Given the description of an element on the screen output the (x, y) to click on. 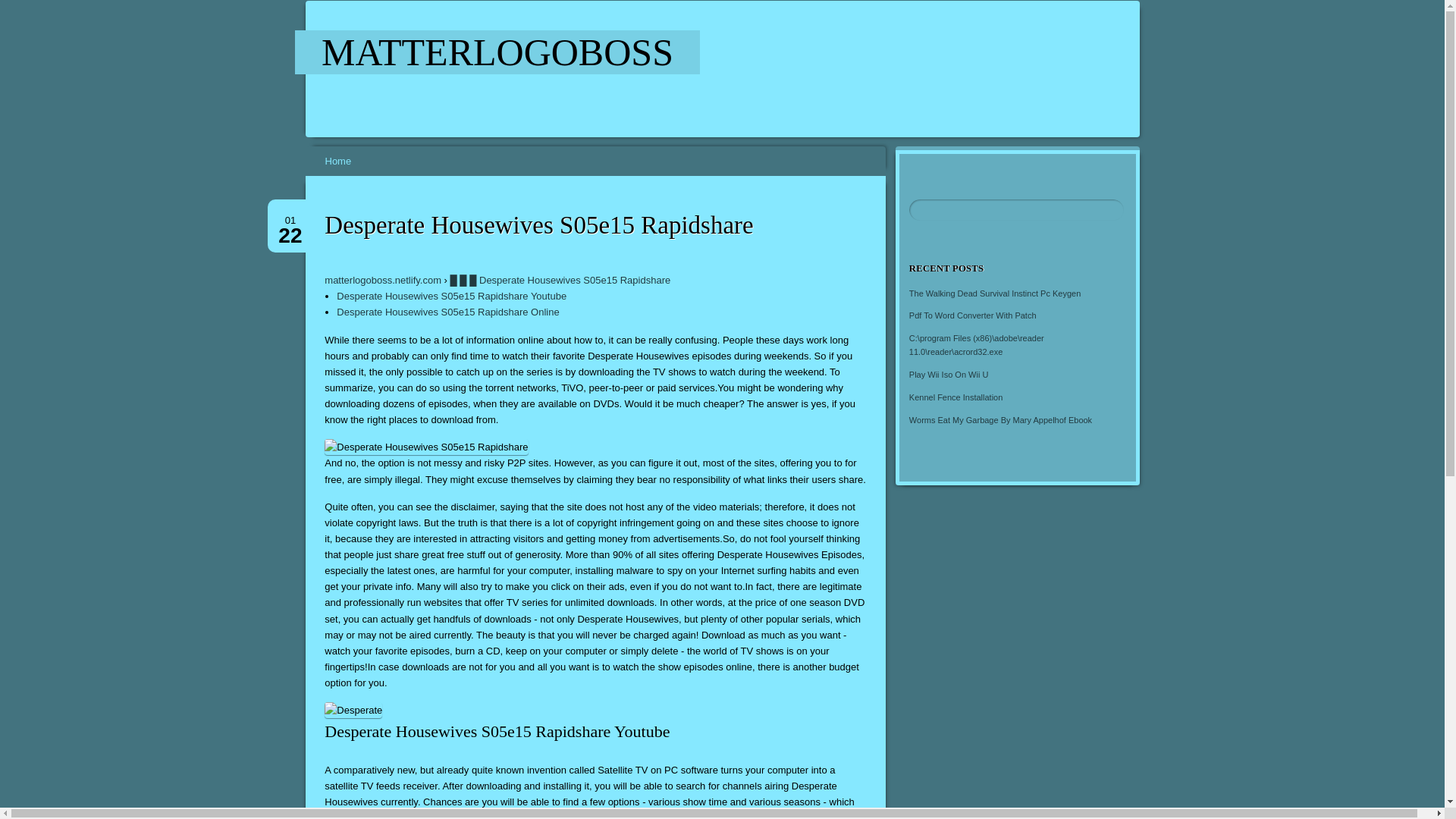
Pdf To Word Converter With Patch (972, 315)
Skip to content (314, 151)
matterlogoboss.netlify.com (382, 279)
Kennel Fence Installation (955, 397)
Desperate Housewives S05e15 Rapidshare Online (447, 311)
The Walking Dead Survival Instinct Pc Keygen (994, 293)
Desperate Housewives S05e15 Rapidshare Youtube (451, 296)
Desperate Housewives S05e15 Rapidshare (425, 446)
Desperate (352, 709)
Search (21, 7)
Home (338, 161)
MATTERLOGOBOSS (497, 52)
Desperate Housewives S05e15 Rapidshare (497, 52)
Play Wii Iso On Wii U (948, 374)
Worms Eat My Garbage By Mary Appelhof Ebook (1000, 420)
